Given the description of an element on the screen output the (x, y) to click on. 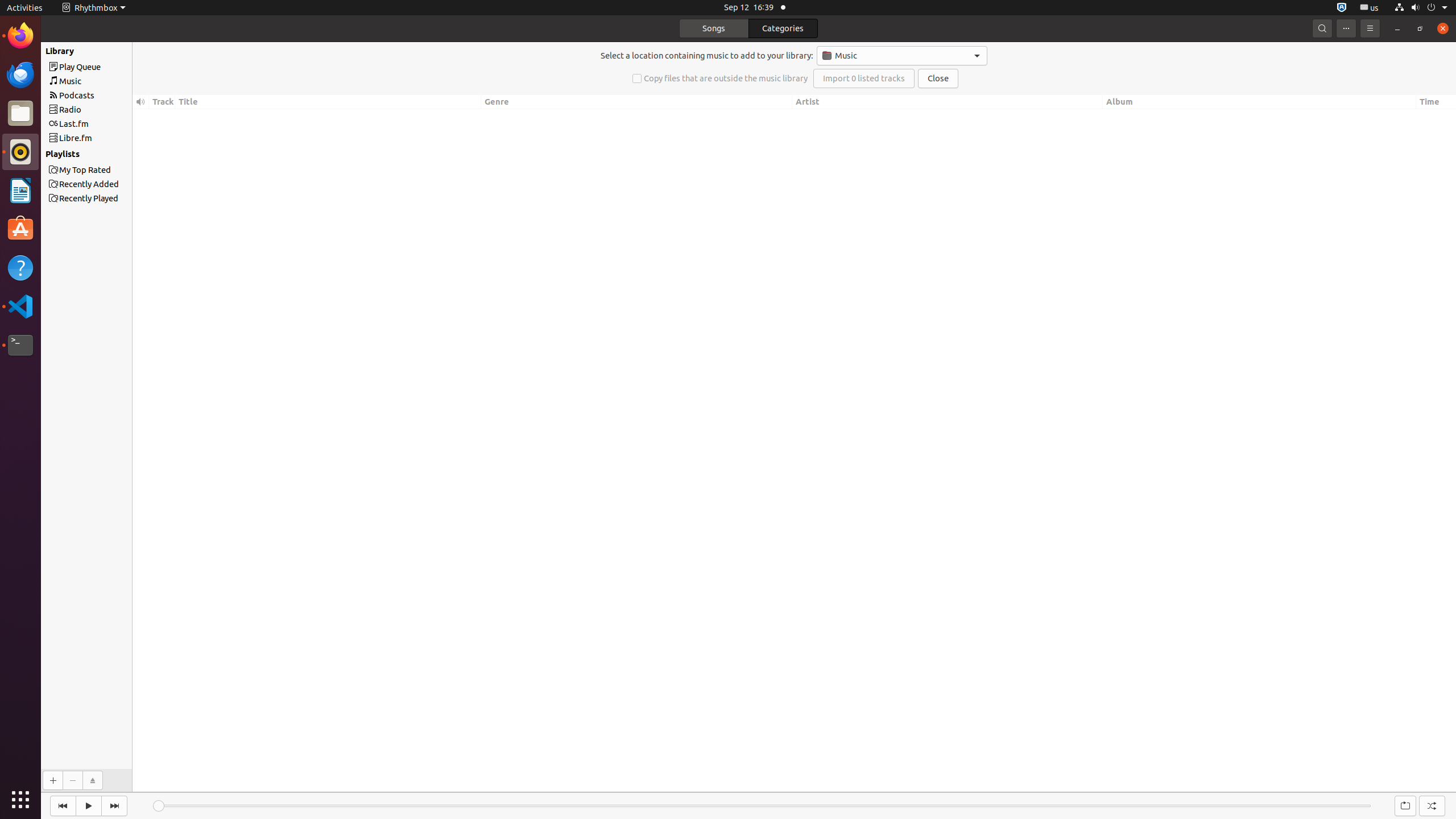
Add Element type: toggle-button (52, 779)
li.txt Element type: label (146, 50)
Import 0 listed tracks Element type: push-button (863, 78)
Activities Element type: label (24, 7)
